Given the description of an element on the screen output the (x, y) to click on. 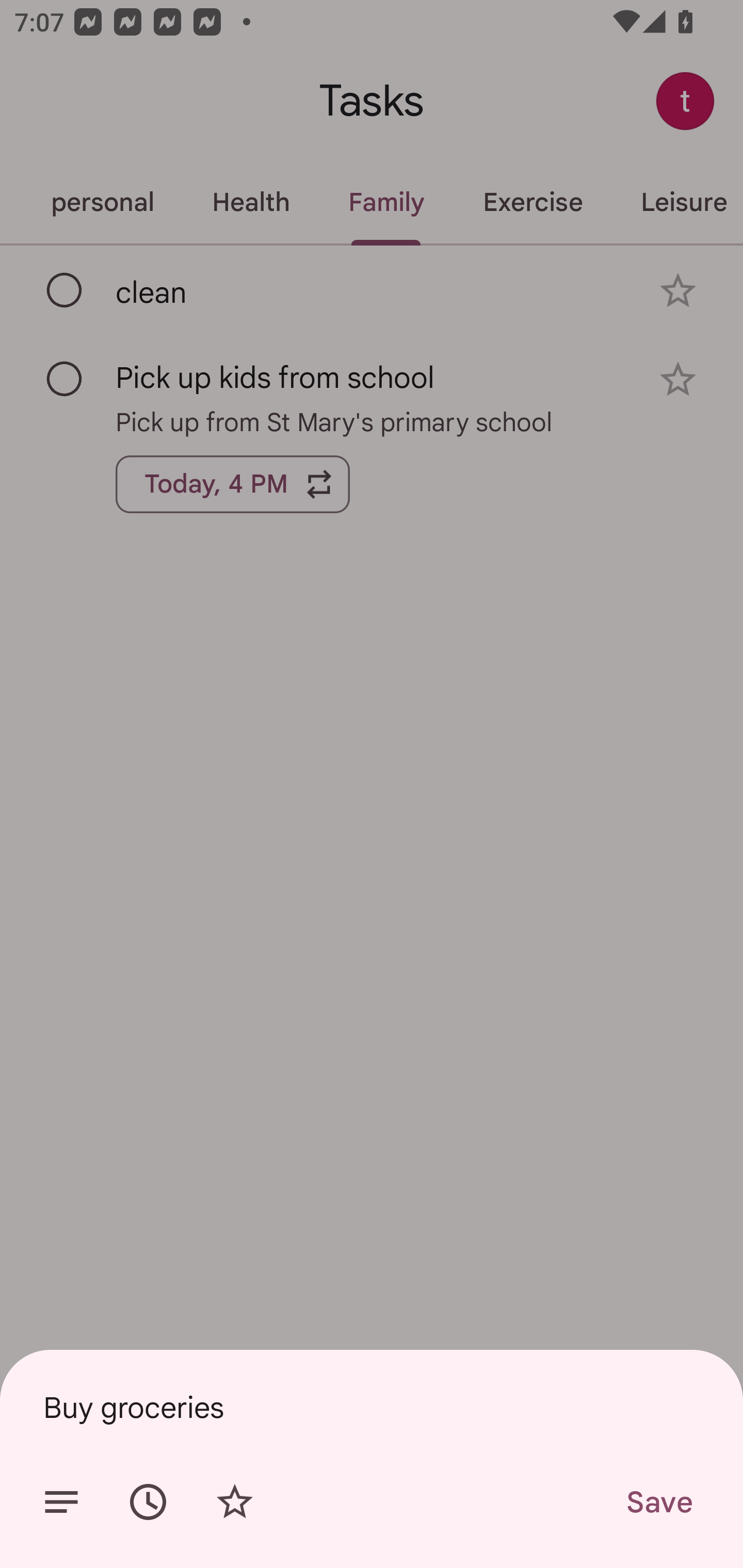
Buy groceries (371, 1407)
Save (659, 1501)
Add details (60, 1501)
Set date/time (147, 1501)
Add star (234, 1501)
